Given the description of an element on the screen output the (x, y) to click on. 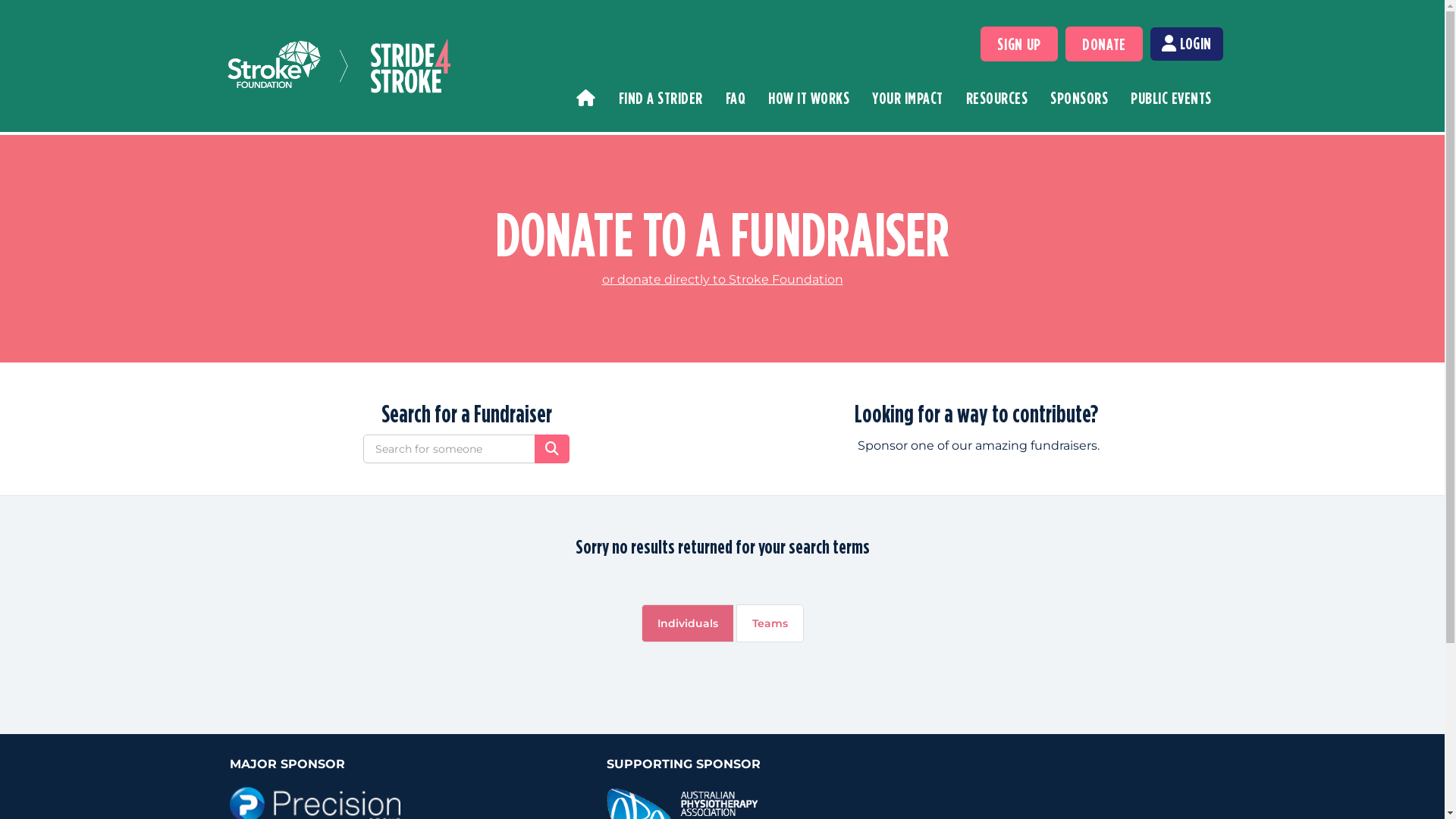
FIND A STRIDER Element type: text (659, 98)
or donate directly to Stroke Foundation Element type: text (722, 278)
HOW IT WORKS Element type: text (808, 98)
SIGN UP Element type: text (1018, 43)
DONATE Element type: text (1103, 43)
Individuals Element type: text (687, 623)
PUBLIC EVENTS Element type: text (1171, 98)
FAQ Element type: text (735, 98)
RESOURCES Element type: text (995, 98)
LOGIN Element type: text (1186, 43)
Teams Element type: text (769, 623)
YOUR IMPACT Element type: text (907, 98)
SPONSORS Element type: text (1078, 98)
